Given the description of an element on the screen output the (x, y) to click on. 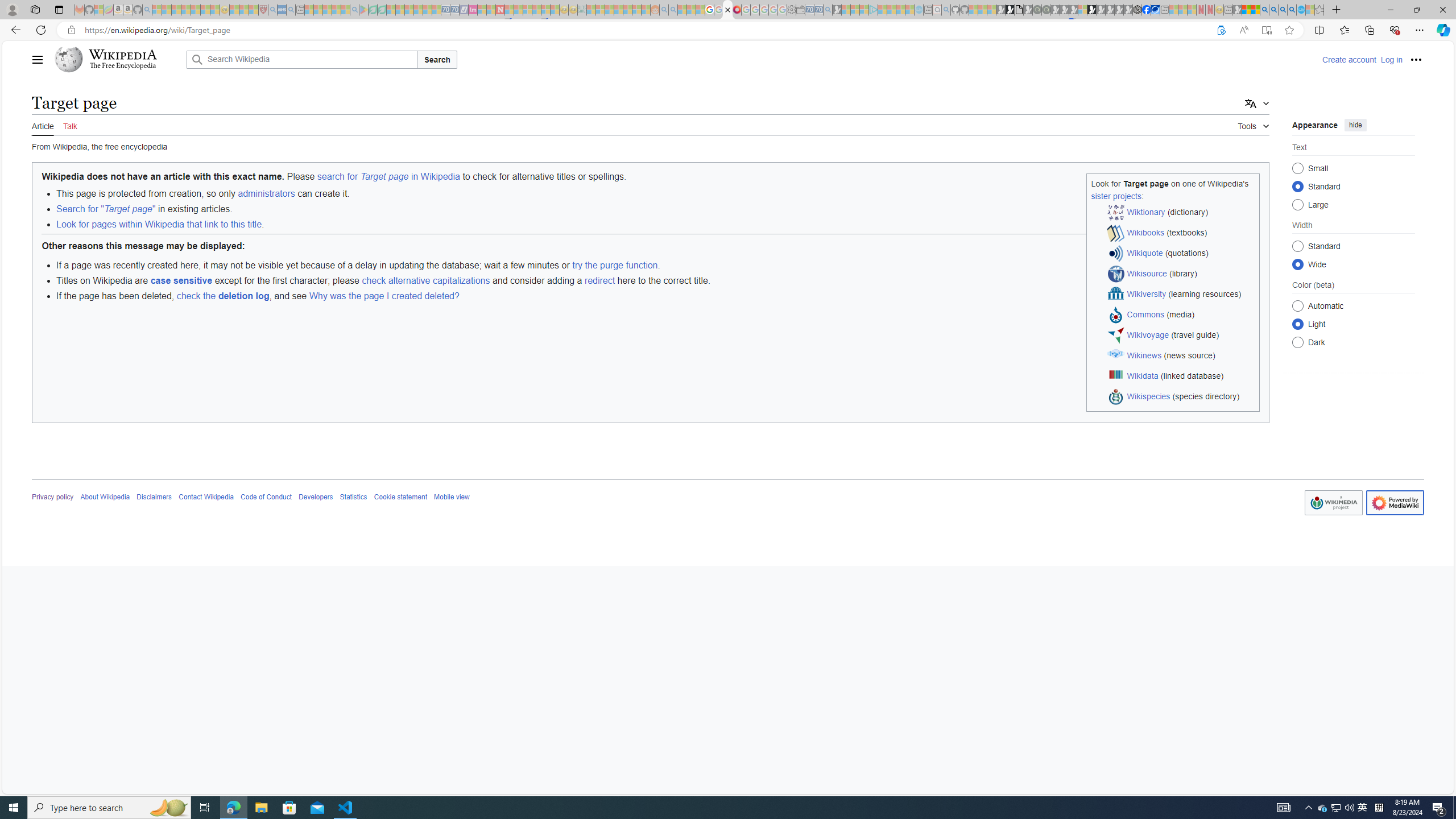
redirect (599, 280)
Wikiversity (1146, 293)
Services - Maintenance | Sky Blue Bikes - Sky Blue Bikes (1300, 9)
Mobile view (451, 496)
search for Target page in Wikipedia (388, 176)
Automatic (1297, 305)
Bing AI - Search (1264, 9)
check alternative capitalizations (425, 280)
2009 Bing officially replaced Live Search on June 3 - Search (1272, 9)
Wide (1297, 263)
Play Zoo Boom in your browser | Games from Microsoft Start (1009, 9)
